Given the description of an element on the screen output the (x, y) to click on. 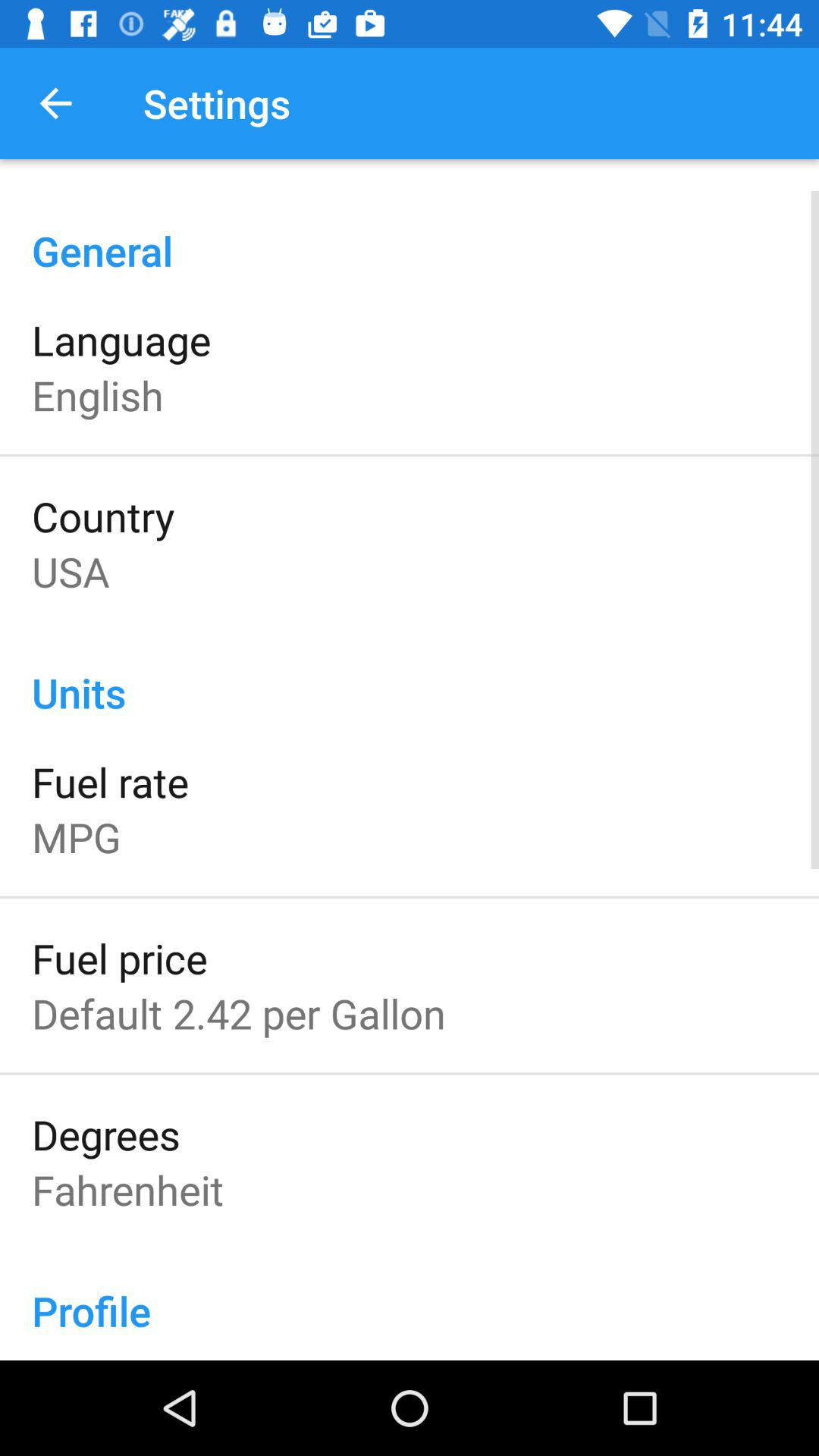
swipe to the language icon (121, 339)
